Given the description of an element on the screen output the (x, y) to click on. 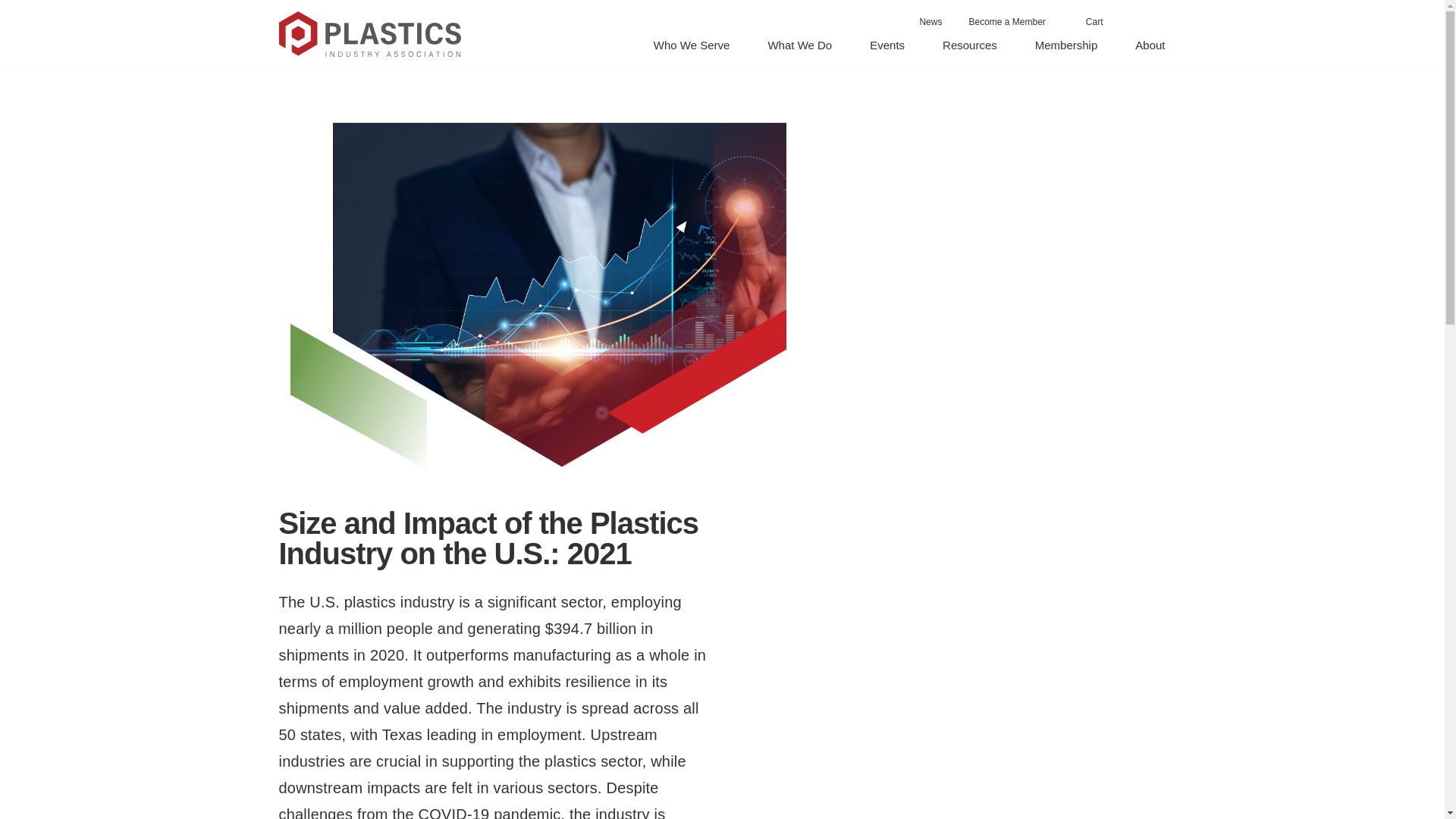
What We Do (800, 44)
Cart (1087, 21)
Who We Serve (692, 44)
News (930, 21)
Search (1163, 22)
Become a Member (1006, 21)
